Given the description of an element on the screen output the (x, y) to click on. 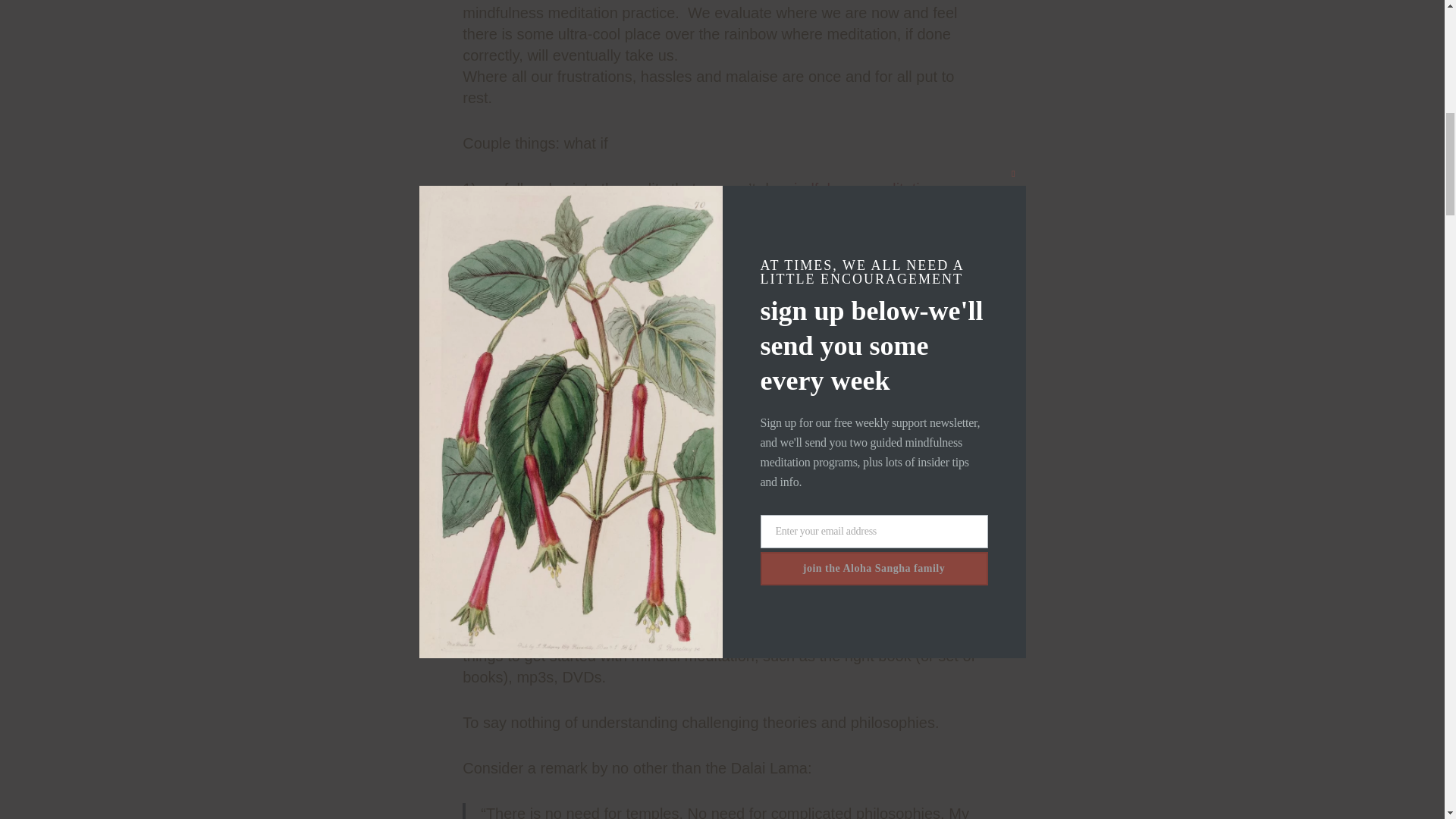
mindfulness meditation (858, 188)
